Given the description of an element on the screen output the (x, y) to click on. 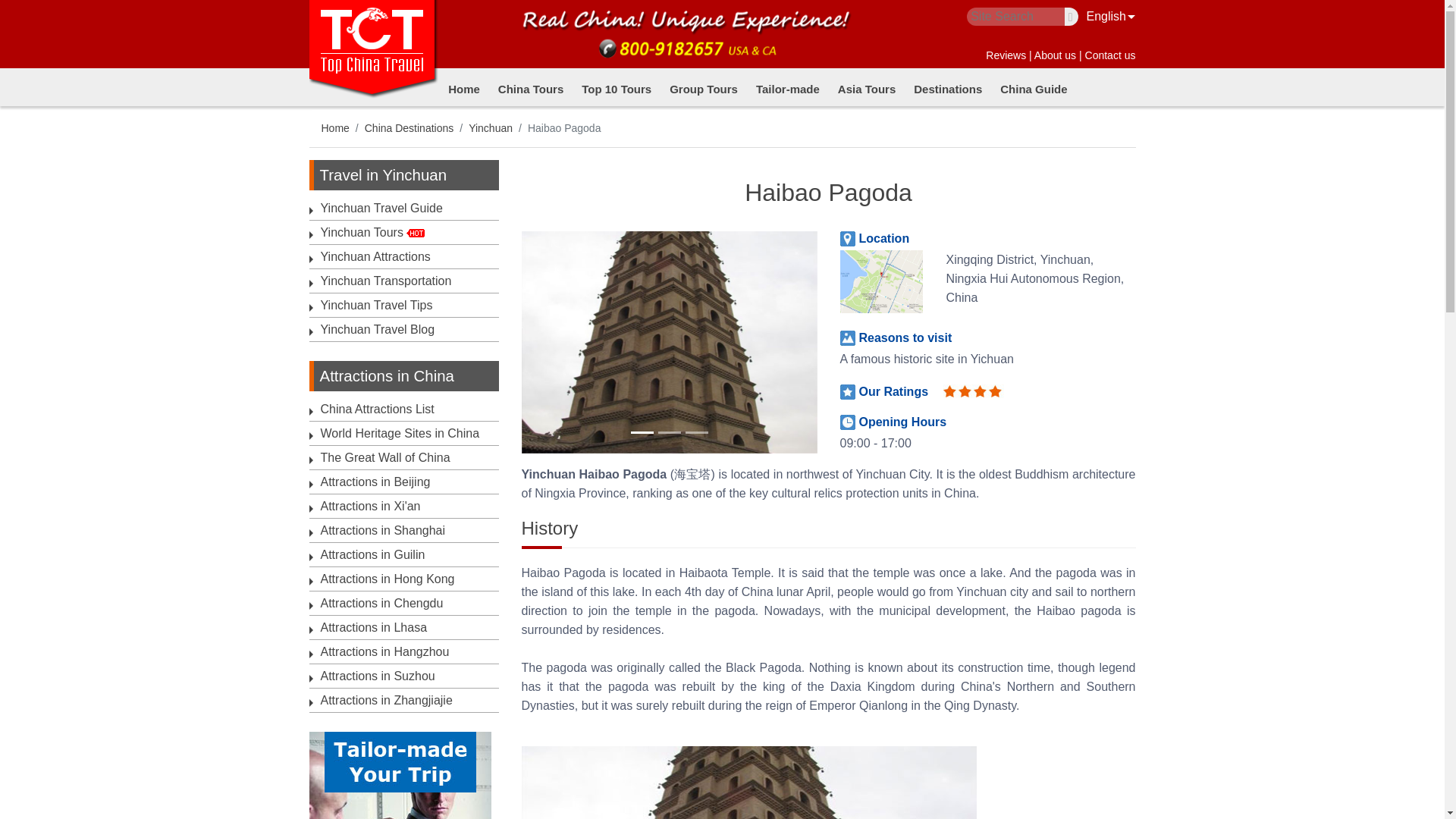
Yinchuan Attractions (374, 256)
About us (1054, 55)
Attractions in Hangzhou (384, 651)
Attractions in Suzhou (376, 675)
Yinchuan Travel Blog (376, 328)
World Heritage Sites in China (399, 432)
Reviews (1005, 55)
Yinchuan Travel Tips (376, 305)
Attractions in Hong Kong (387, 578)
Yinchuan Tours (361, 232)
China Attractions (376, 408)
Attractions in Lhasa (373, 626)
Attractions in Zhangjiajie (385, 699)
Attractions in Shanghai (382, 530)
Home (463, 88)
